Given the description of an element on the screen output the (x, y) to click on. 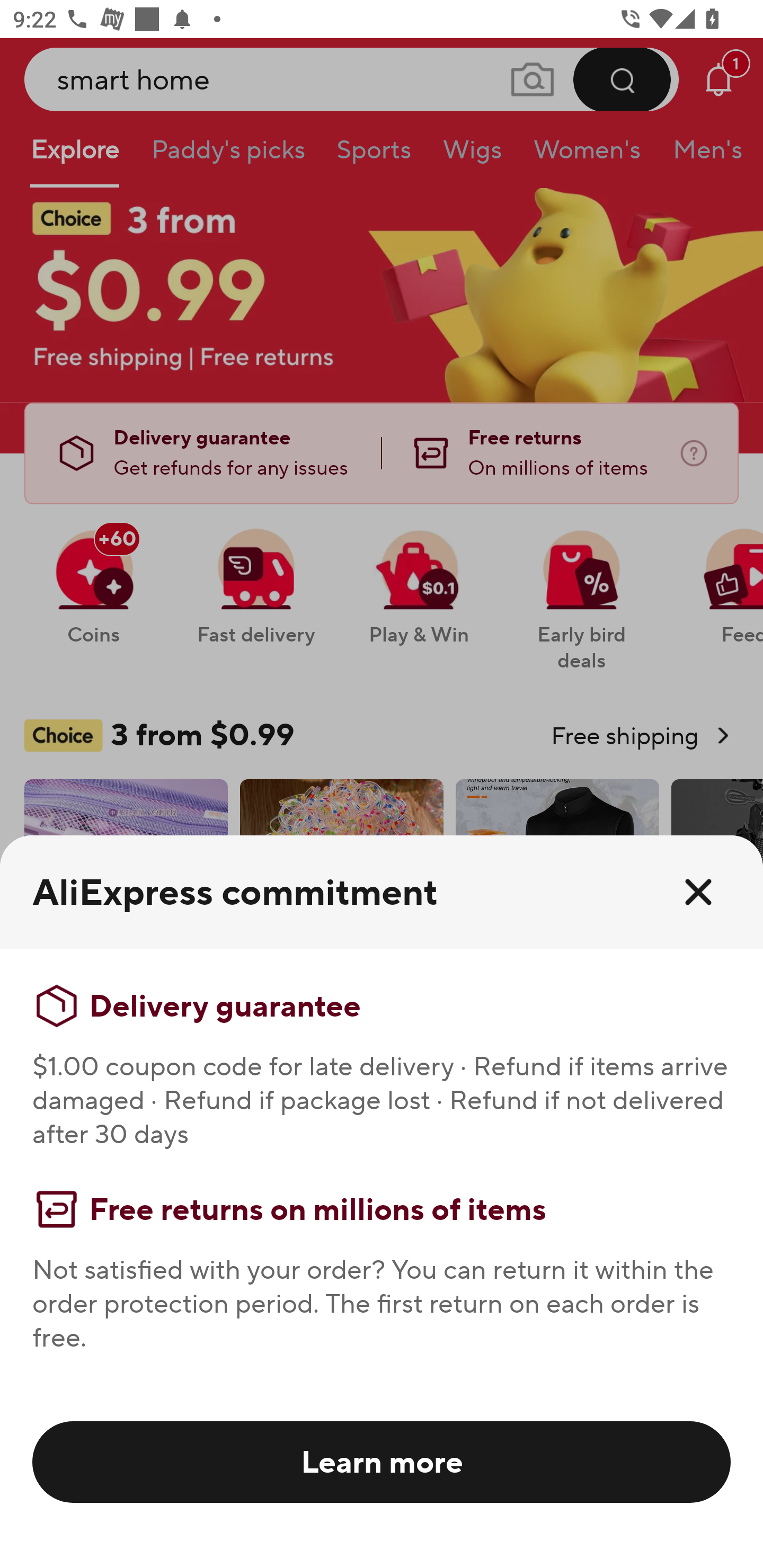
Learn more (381, 1461)
